Given the description of an element on the screen output the (x, y) to click on. 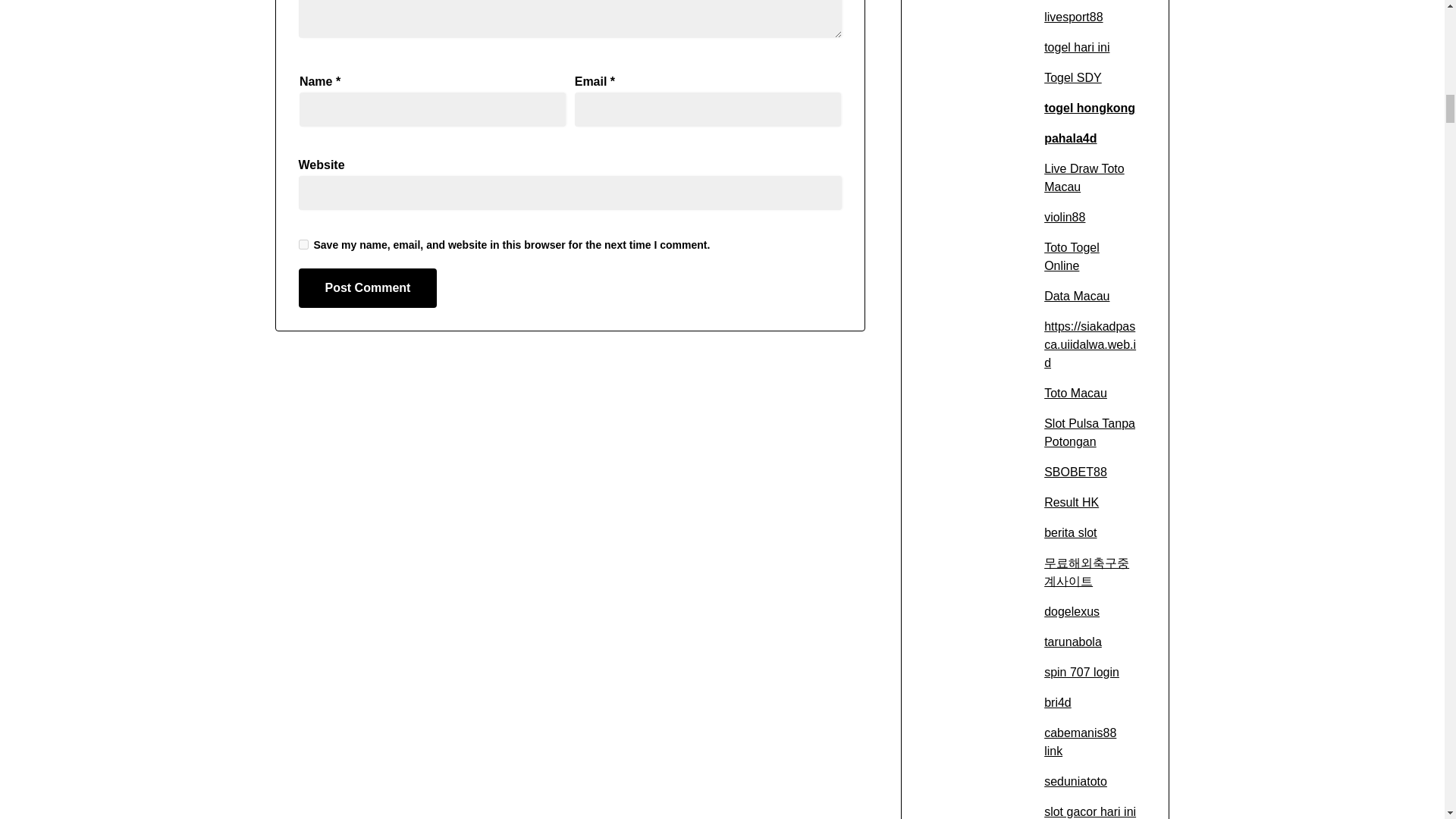
Post Comment (368, 287)
Post Comment (368, 287)
yes (303, 244)
